Given the description of an element on the screen output the (x, y) to click on. 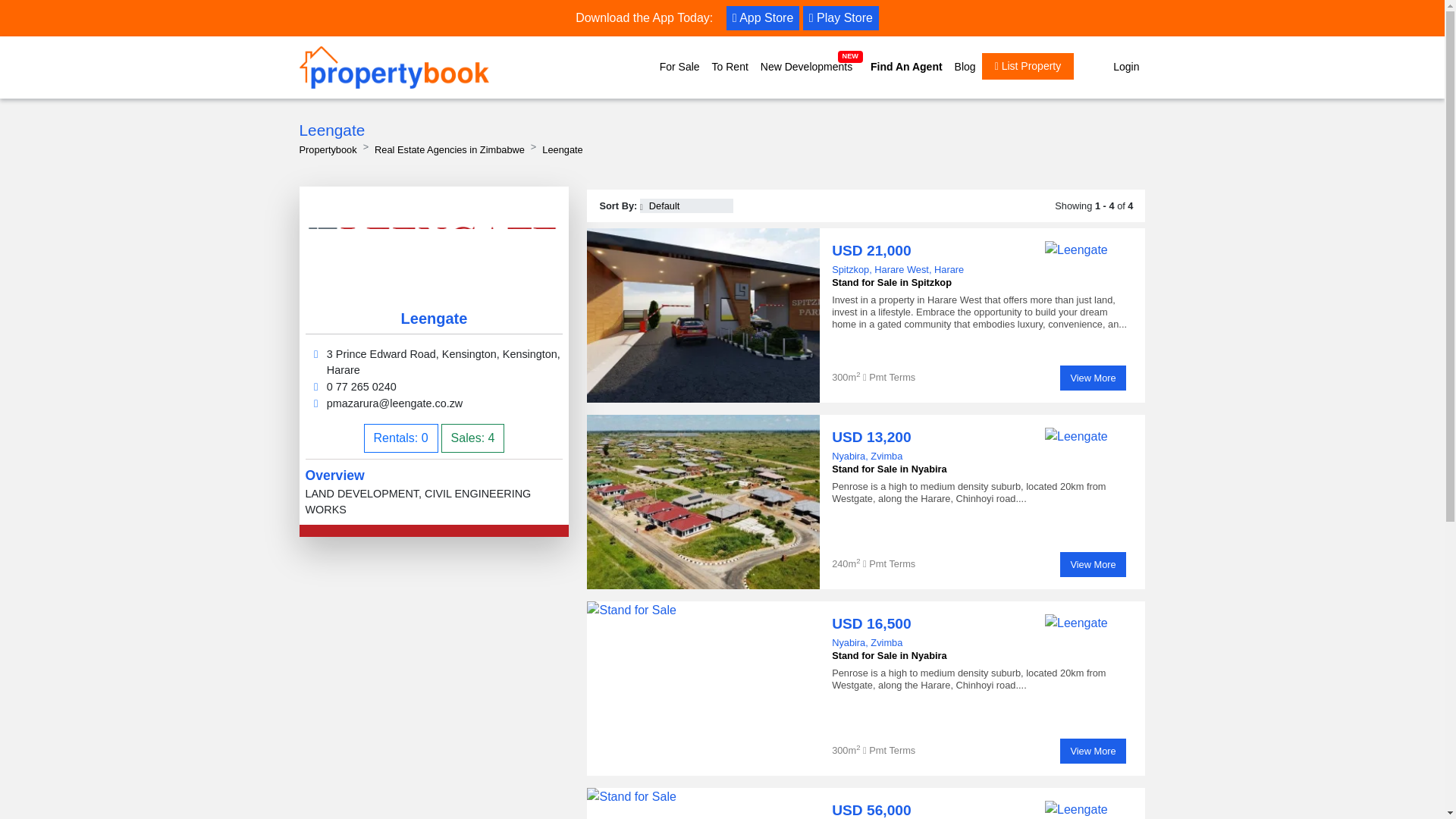
Play Store (841, 17)
Stand for Sale in Nyabira (702, 501)
Stand for Sale in Spitzkop (702, 315)
For Sale (679, 67)
Stand for Sale in Nyabira (702, 688)
Leengate (1076, 436)
Leengate (1076, 623)
Leengate (1076, 809)
App Store (762, 17)
Stand for Sale in Arlington (702, 803)
Leengate (1076, 249)
